Given the description of an element on the screen output the (x, y) to click on. 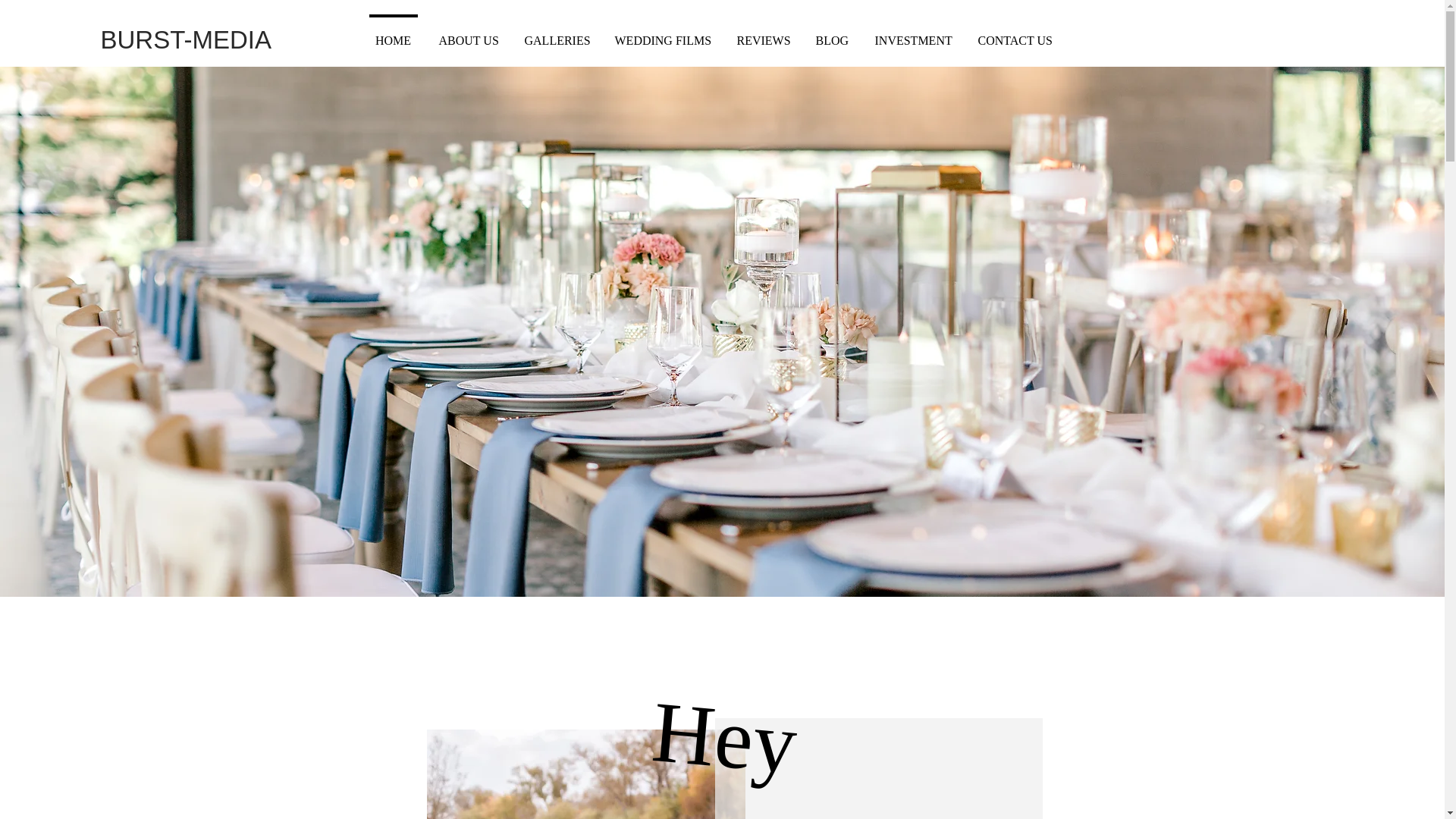
HOME (424, 33)
REVIEWS (762, 33)
INVESTMENT (912, 33)
INVESTMENT (899, 33)
BLOG (831, 33)
ABOUT US (493, 33)
HOME (393, 33)
ABOUT US (468, 33)
WEDDING FILMS (660, 33)
CONTACT US (1014, 33)
CONTACT US (993, 33)
GALLERIES (574, 33)
GALLERIES (556, 33)
WEDDING FILMS (668, 33)
BLOG (824, 33)
